Given the description of an element on the screen output the (x, y) to click on. 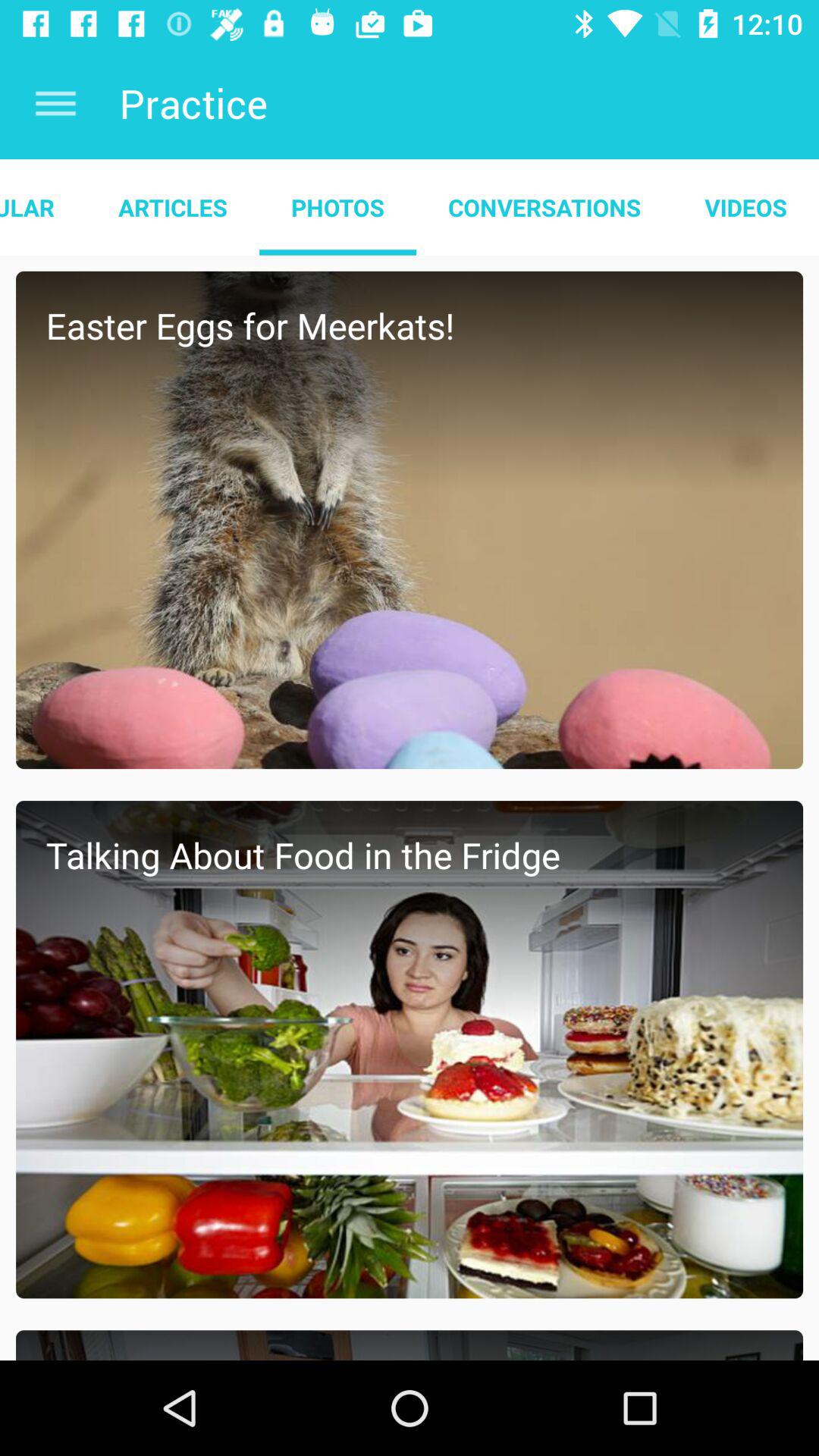
turn off conversations item (544, 207)
